Given the description of an element on the screen output the (x, y) to click on. 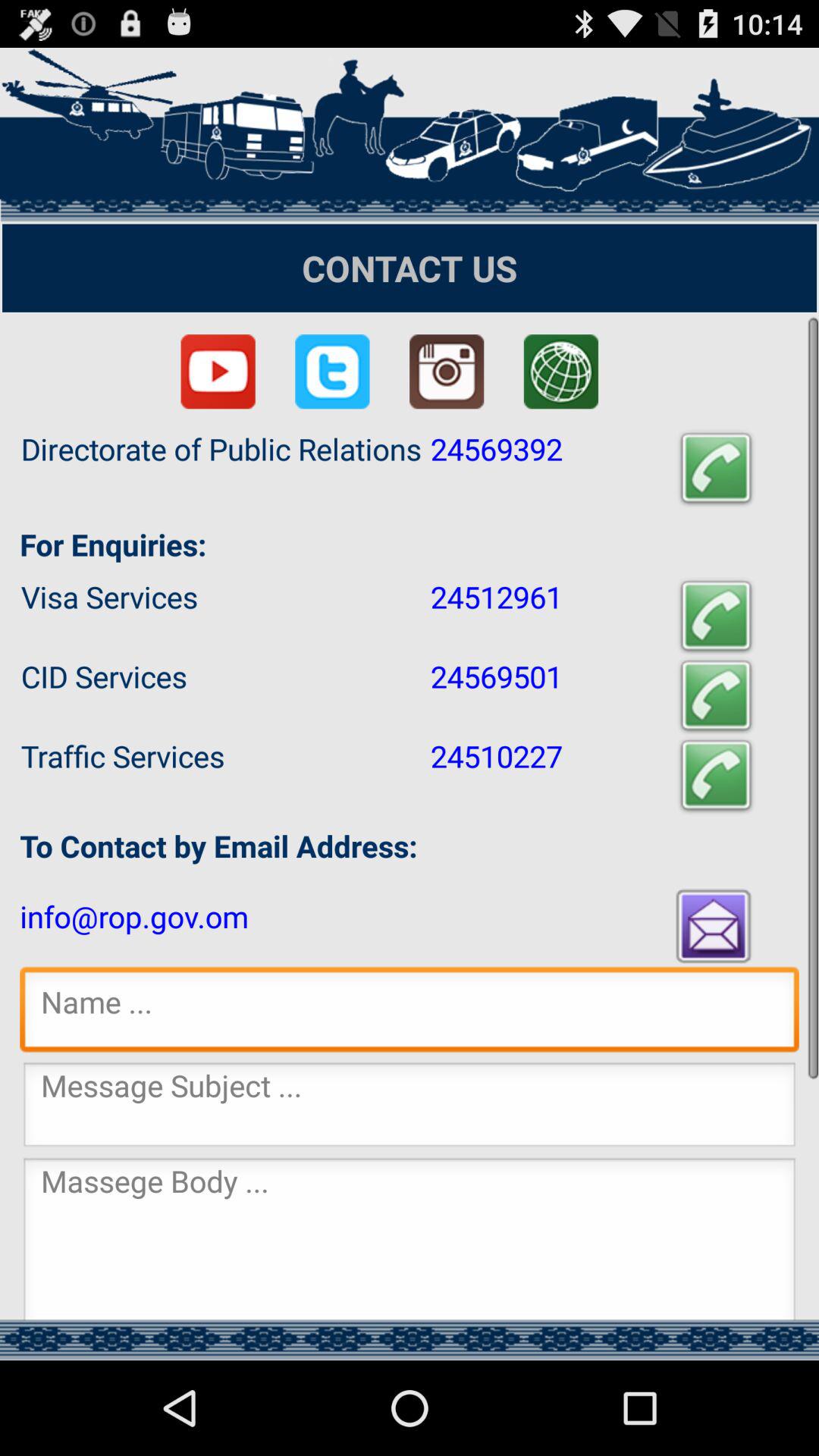
twitter contact (332, 371)
